Given the description of an element on the screen output the (x, y) to click on. 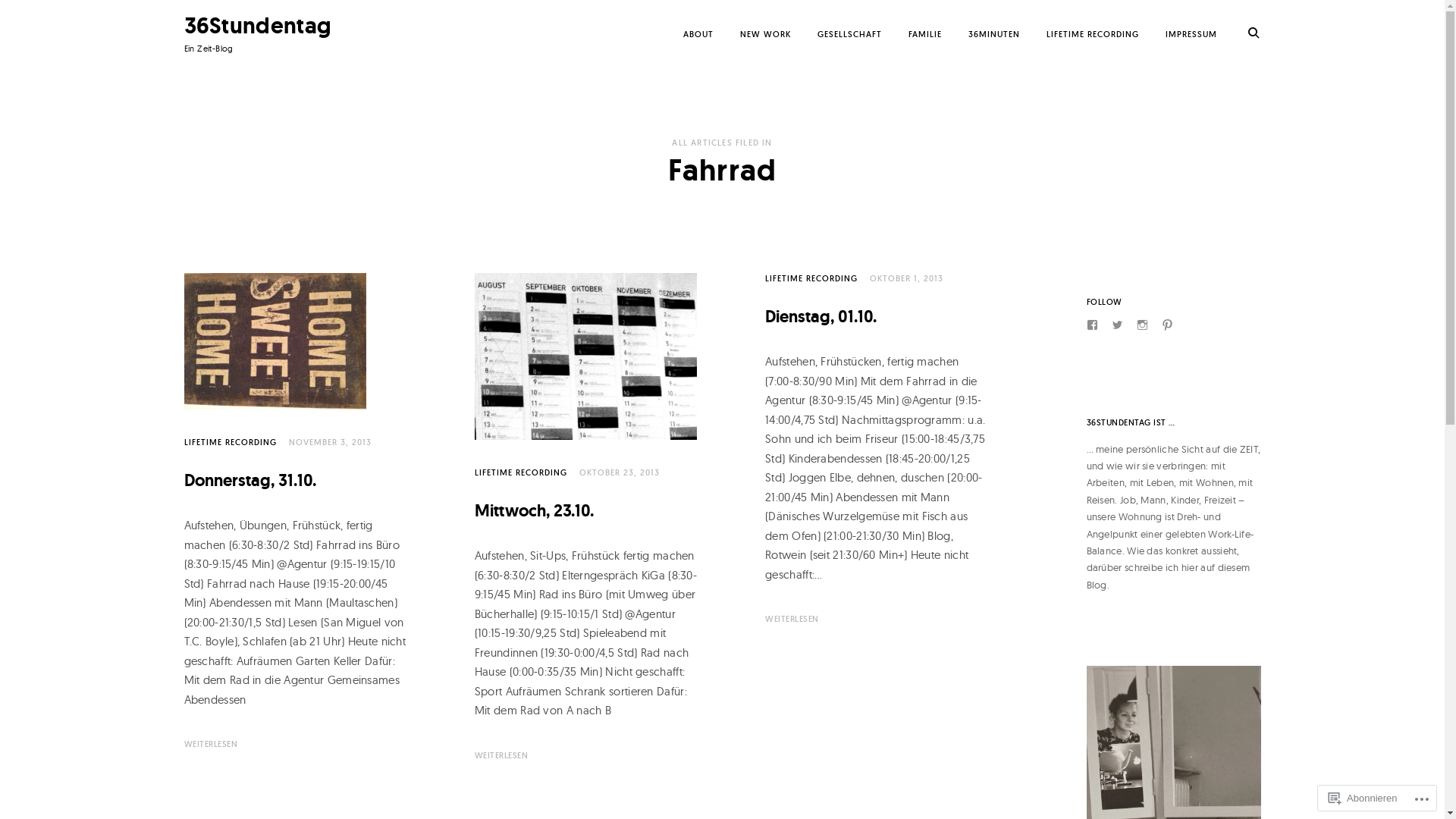
Donnerstag, 31.10. Element type: text (249, 480)
LIFETIME RECORDING Element type: text (229, 441)
OKTOBER 1, 2013 Element type: text (906, 278)
WEITERLESEN Element type: text (501, 755)
Abonnieren Element type: text (1362, 797)
OKTOBER 23, 2013 Element type: text (619, 472)
Dienstag, 01.10. Element type: text (820, 316)
36Stundentag Element type: text (256, 25)
Mittwoch, 23.10. Element type: text (533, 510)
WEITERLESEN Element type: text (792, 618)
WEITERLESEN Element type: text (210, 743)
FAMILIE Element type: text (924, 33)
NOVEMBER 3, 2013 Element type: text (329, 441)
LIFETIME RECORDING Element type: text (811, 278)
36MINUTEN Element type: text (993, 33)
LIFETIME RECORDING Element type: text (520, 472)
LIFETIME RECORDING Element type: text (1092, 33)
IMPRESSUM Element type: text (1190, 33)
GESELLSCHAFT Element type: text (849, 33)
ABOUT Element type: text (697, 33)
Suche Element type: text (49, 17)
NEW WORK Element type: text (765, 33)
